Given the description of an element on the screen output the (x, y) to click on. 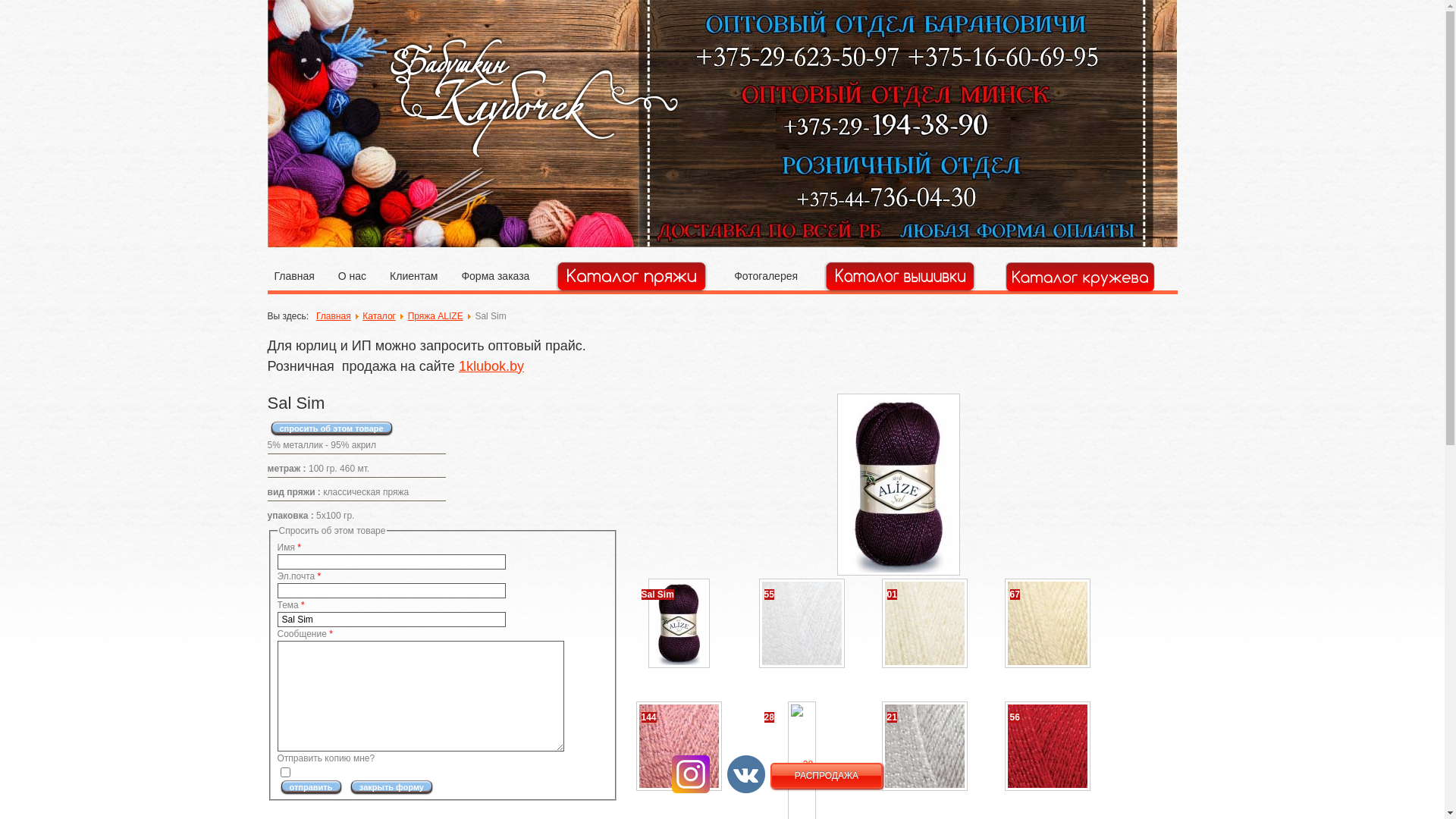
   Element type: text (1079, 275)
21 Element type: hover (924, 745)
Sal Sim Element type: hover (678, 622)
   Element type: text (899, 275)
28 Element type: hover (801, 763)
01 Element type: hover (924, 622)
Sal Sim Element type: hover (898, 483)
144 Element type: hover (678, 745)
1klubok.by Element type: text (491, 365)
55 Element type: hover (801, 622)
67 Element type: hover (1047, 622)
56 Element type: hover (1047, 745)
   Element type: text (630, 275)
